Given the description of an element on the screen output the (x, y) to click on. 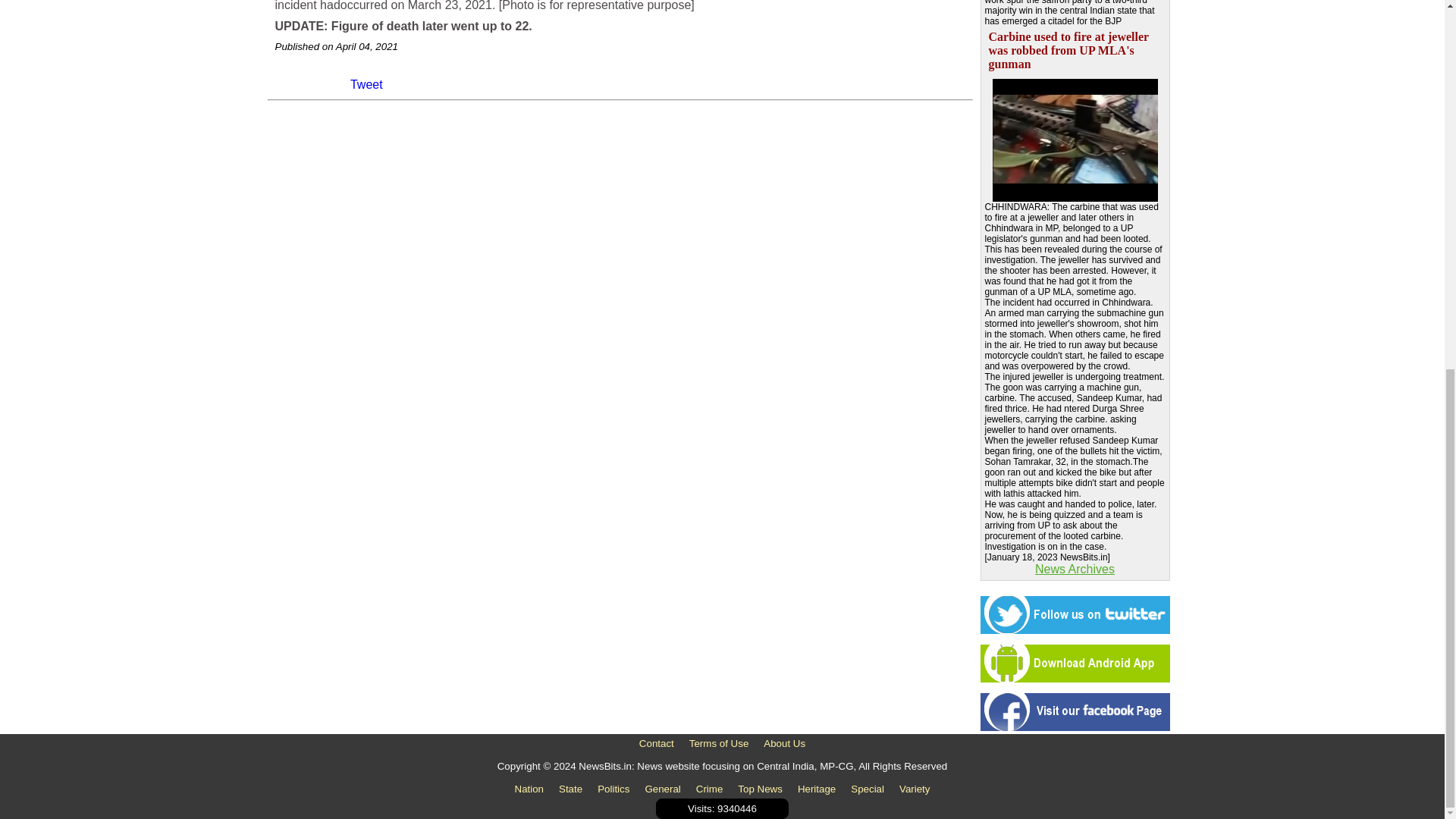
Contact (656, 742)
General (662, 788)
Nation (529, 788)
About Us (784, 742)
Politics (613, 788)
State (570, 788)
News Archives (1074, 569)
Top News (759, 788)
Heritage (816, 788)
Tweet (366, 84)
Terms of Use (718, 742)
Special (867, 788)
Crime (709, 788)
